Given the description of an element on the screen output the (x, y) to click on. 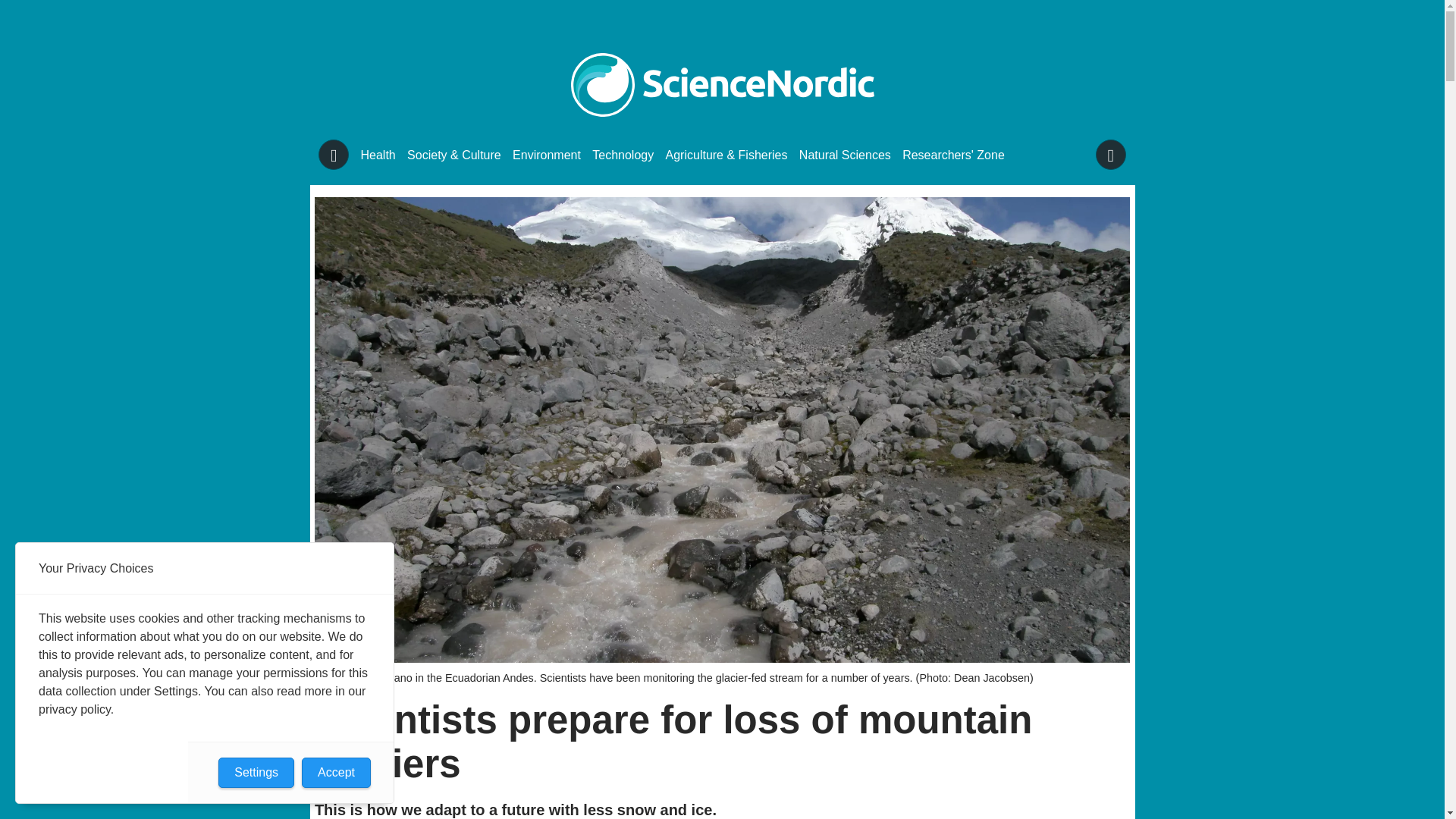
Researchers' Zone (953, 154)
Environment (546, 154)
Technology (622, 154)
Health (378, 154)
Natural Sciences (845, 154)
